Given the description of an element on the screen output the (x, y) to click on. 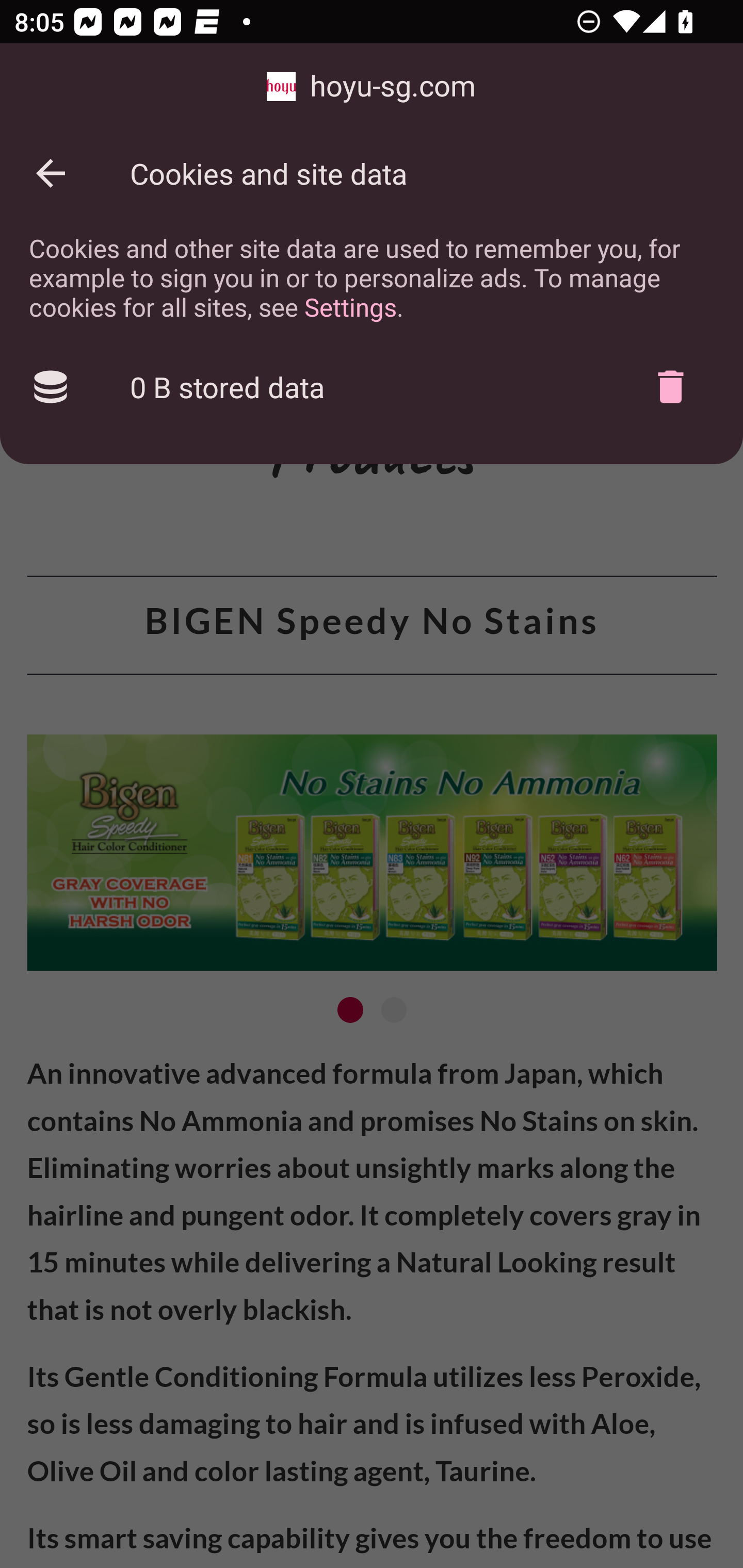
hoyu-sg.com (371, 86)
Back (50, 173)
0 B stored data Delete cookies? (371, 386)
